Given the description of an element on the screen output the (x, y) to click on. 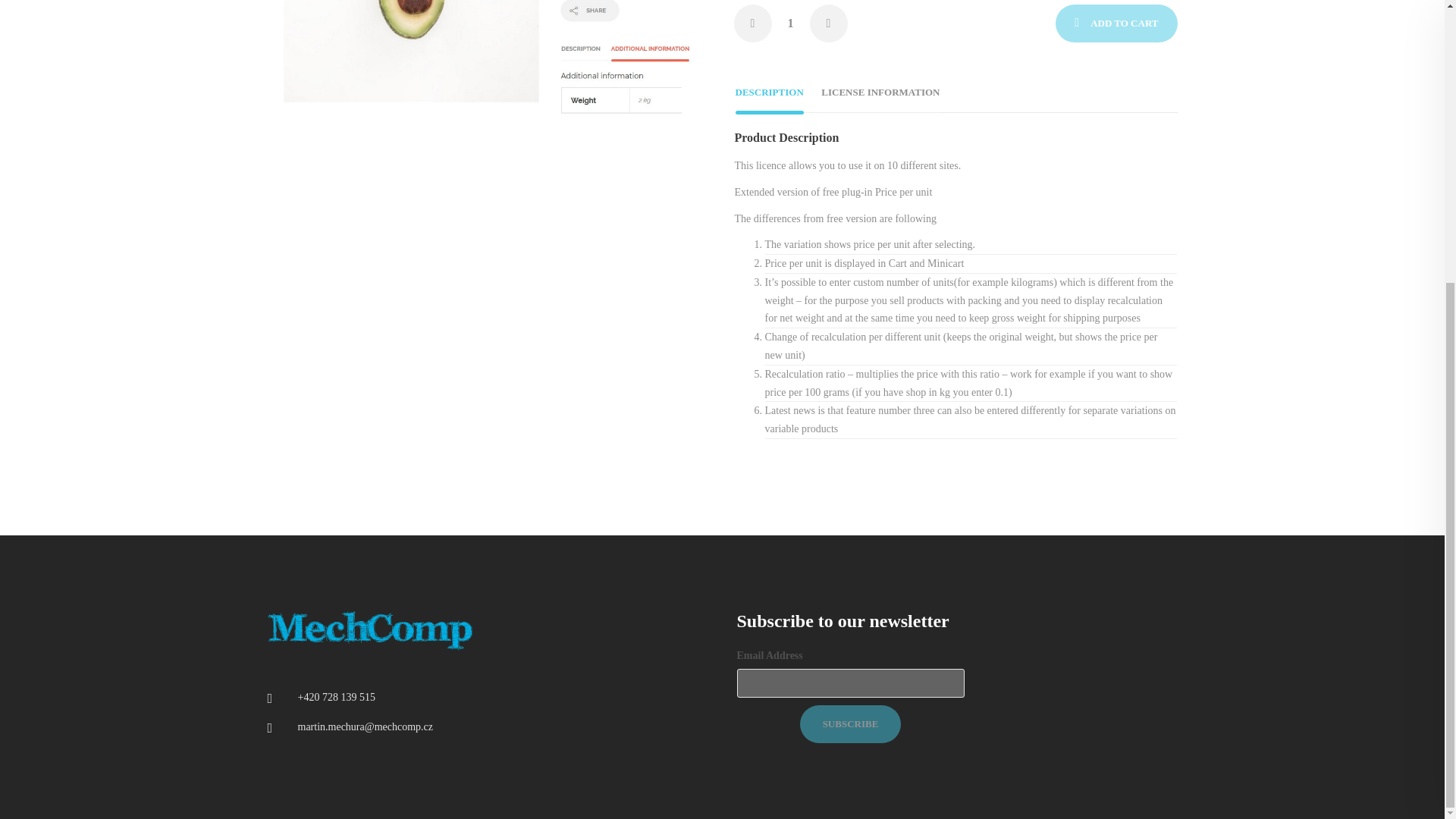
Subscribe (850, 723)
1 (790, 23)
Recalculation ratio - Frontend (485, 67)
